Given the description of an element on the screen output the (x, y) to click on. 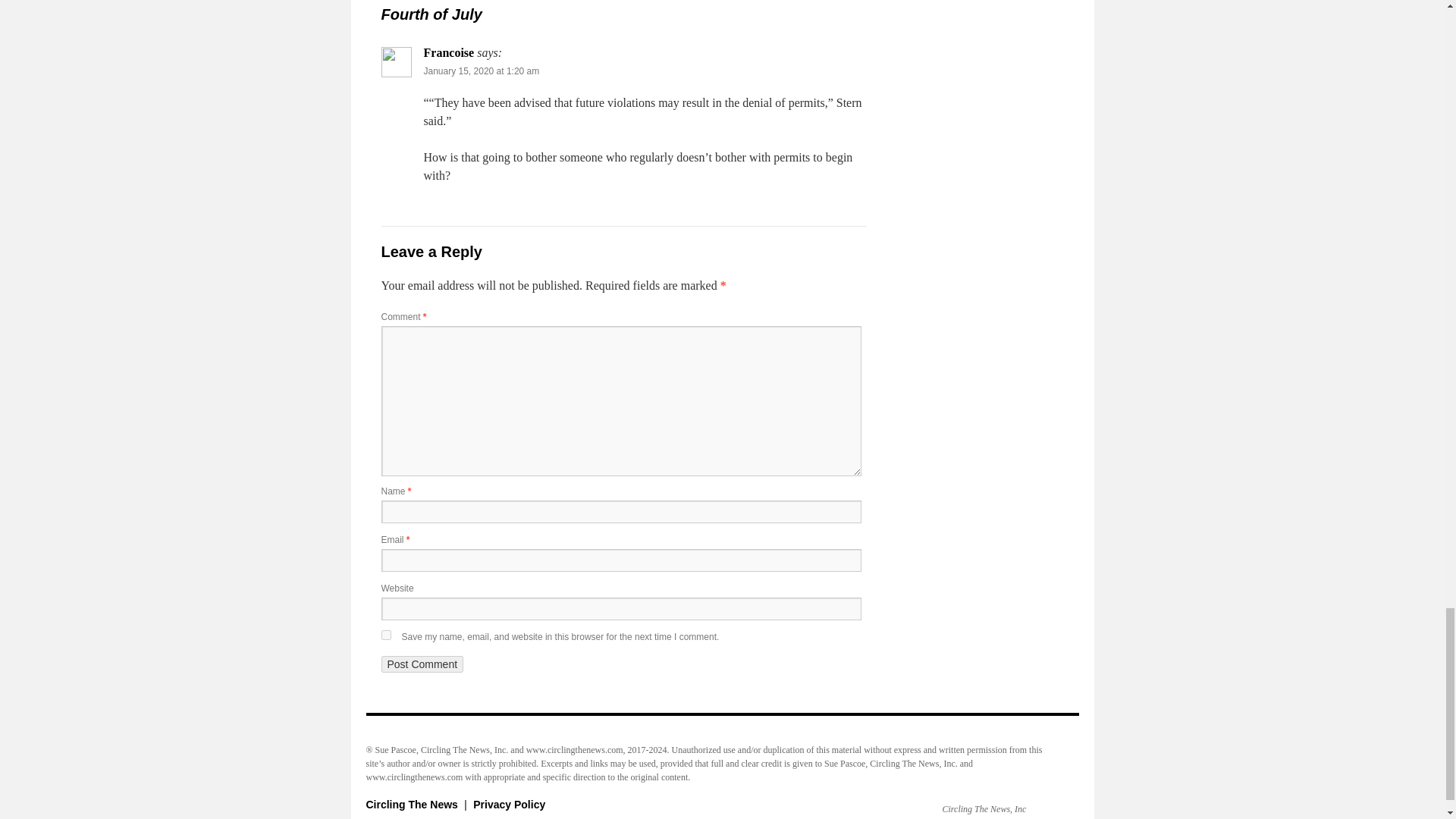
January 15, 2020 at 1:20 am (480, 71)
Post Comment (421, 664)
Post Comment (421, 664)
Circling The News (412, 804)
yes (385, 634)
